Given the description of an element on the screen output the (x, y) to click on. 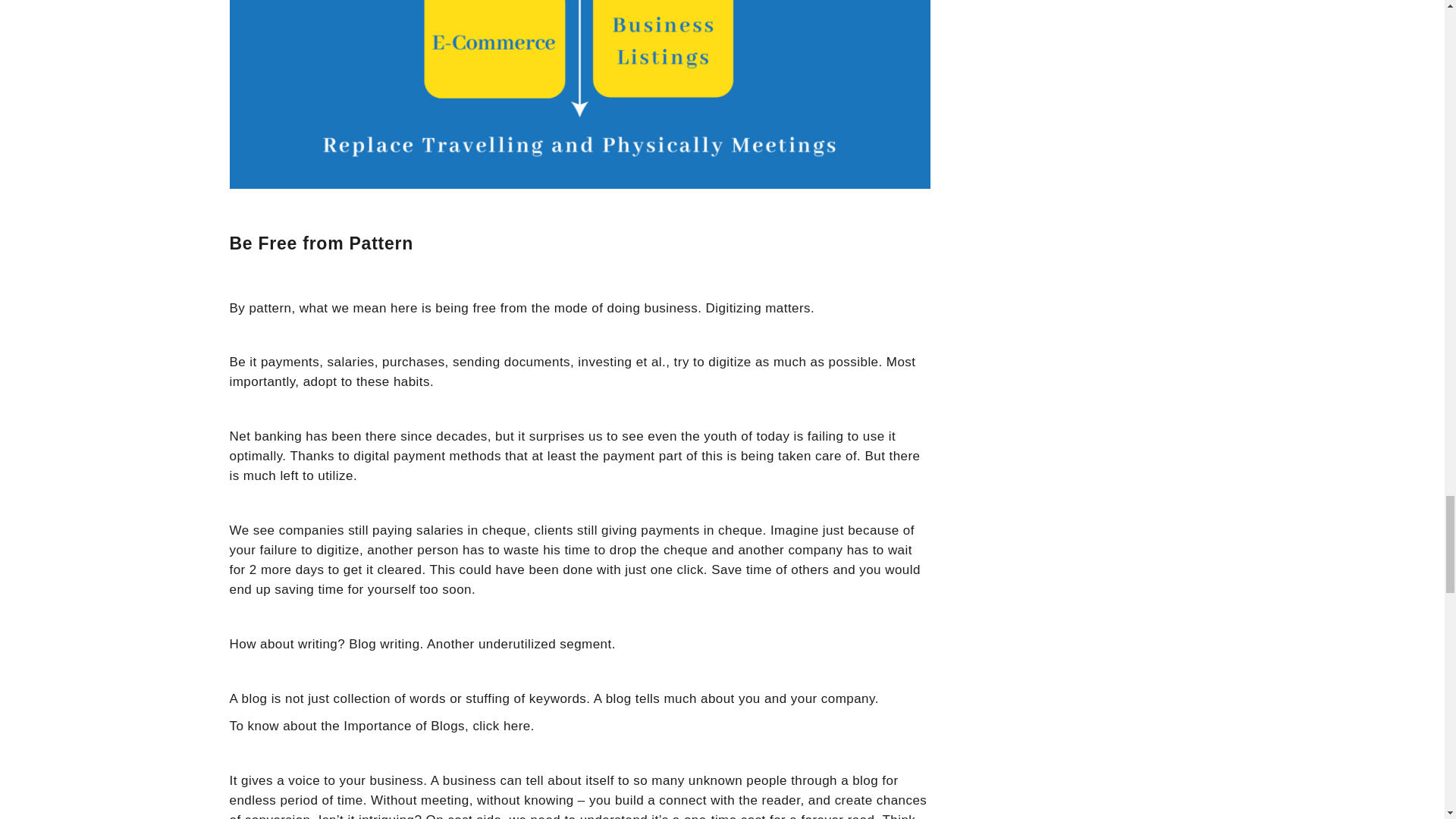
click here (500, 726)
